Given the description of an element on the screen output the (x, y) to click on. 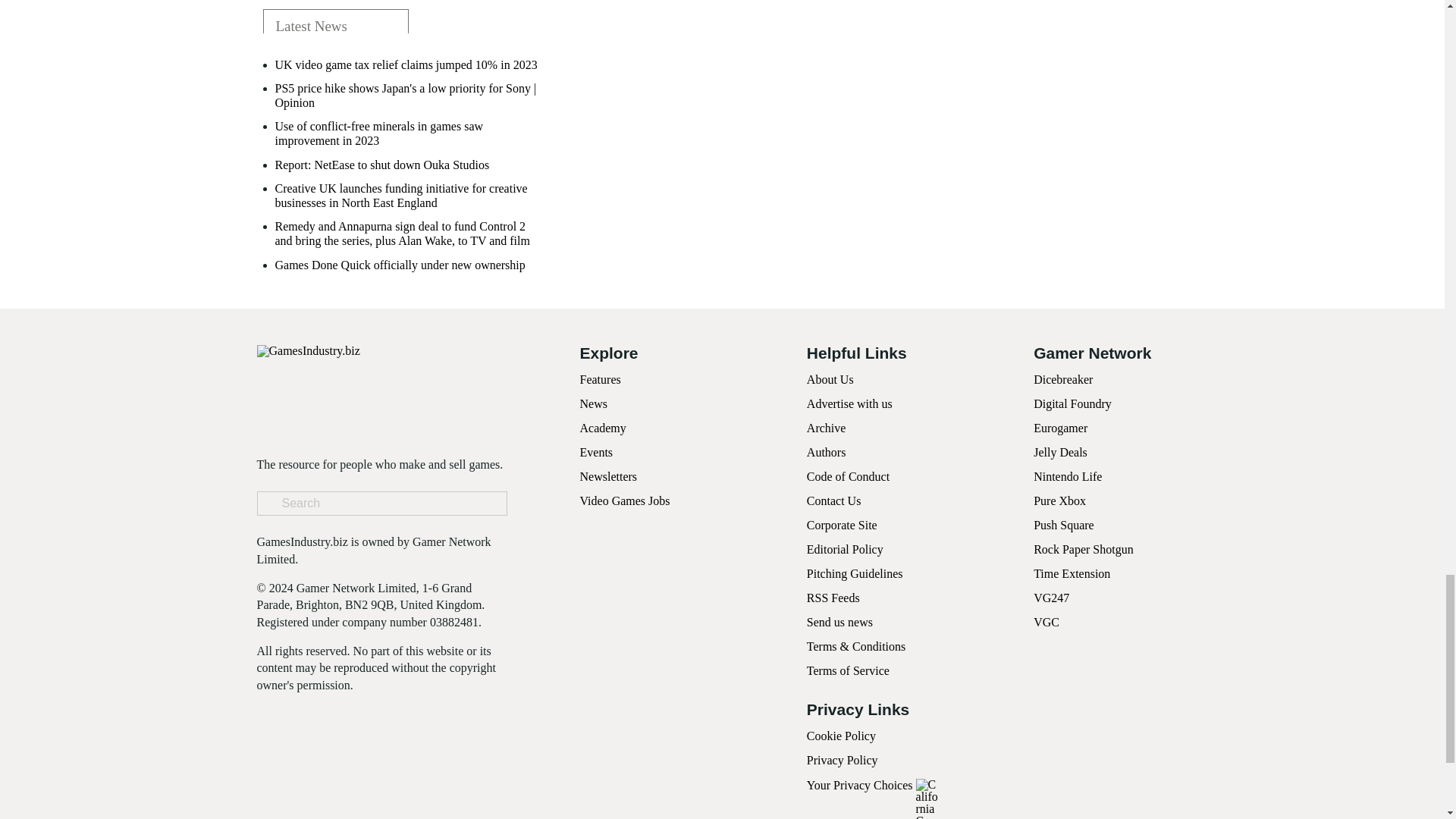
Newsletters (608, 476)
Features (599, 379)
Academy (602, 427)
Events (595, 451)
News (593, 403)
Report: NetEase to shut down Ouka Studios (382, 164)
Video Games Jobs (624, 500)
About Us (829, 379)
